Given the description of an element on the screen output the (x, y) to click on. 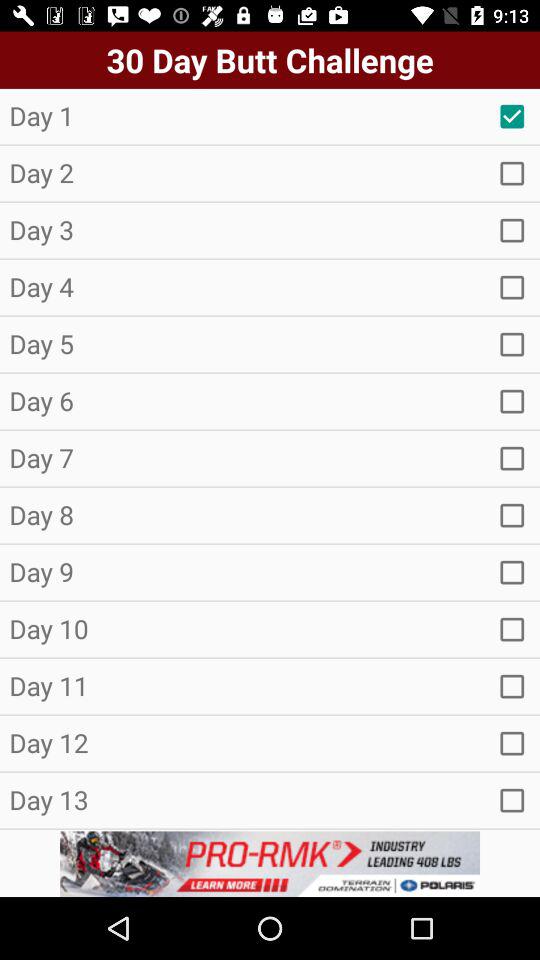
new pega (512, 344)
